Given the description of an element on the screen output the (x, y) to click on. 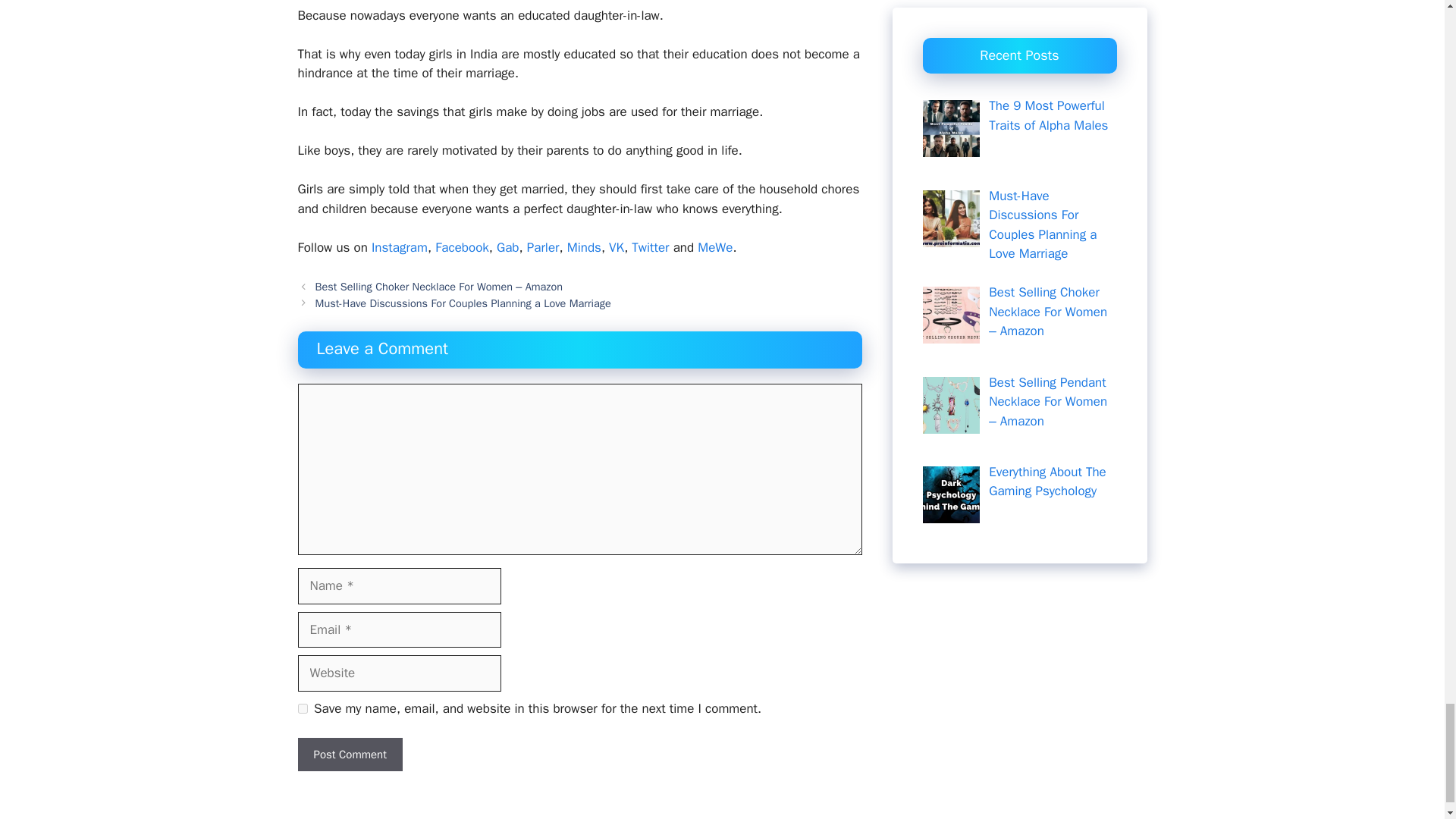
Must-Have Discussions For Couples Planning a Love Marriage (463, 303)
Gab (507, 247)
yes (302, 708)
MeWe (714, 247)
Next (463, 303)
Instagram (399, 247)
Parler (543, 247)
VK (616, 247)
Previous (438, 286)
Post Comment (349, 754)
